Given the description of an element on the screen output the (x, y) to click on. 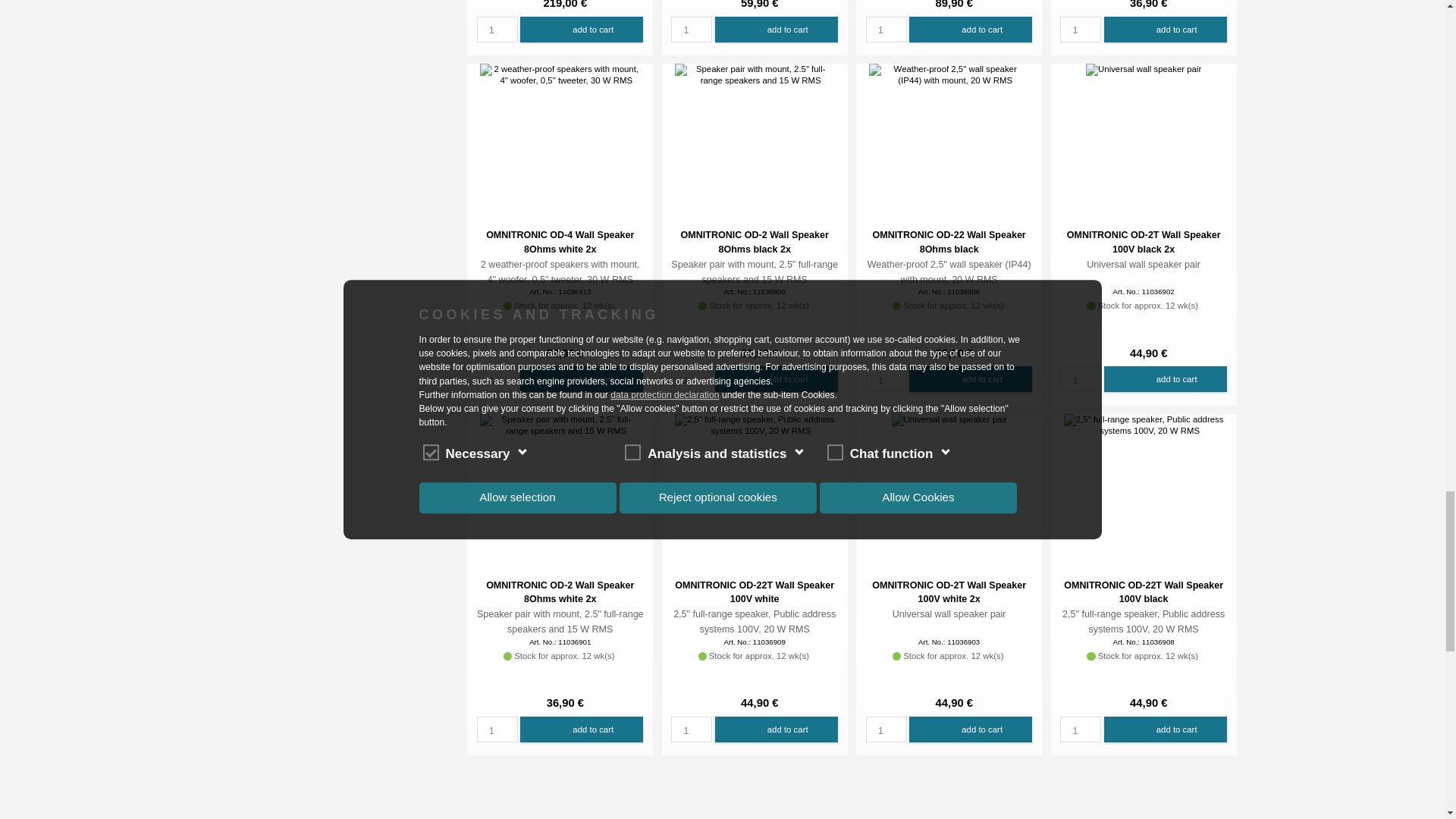
1 (691, 379)
1 (886, 379)
1 (497, 379)
1 (691, 29)
1 (497, 29)
OMNITRONIC OD-4 Wall Speaker 8Ohms white 2x (560, 74)
OMNITRONIC OD-2 Wall Speaker 8Ohms black 2x (754, 74)
1 (886, 29)
1 (1079, 29)
